Given the description of an element on the screen output the (x, y) to click on. 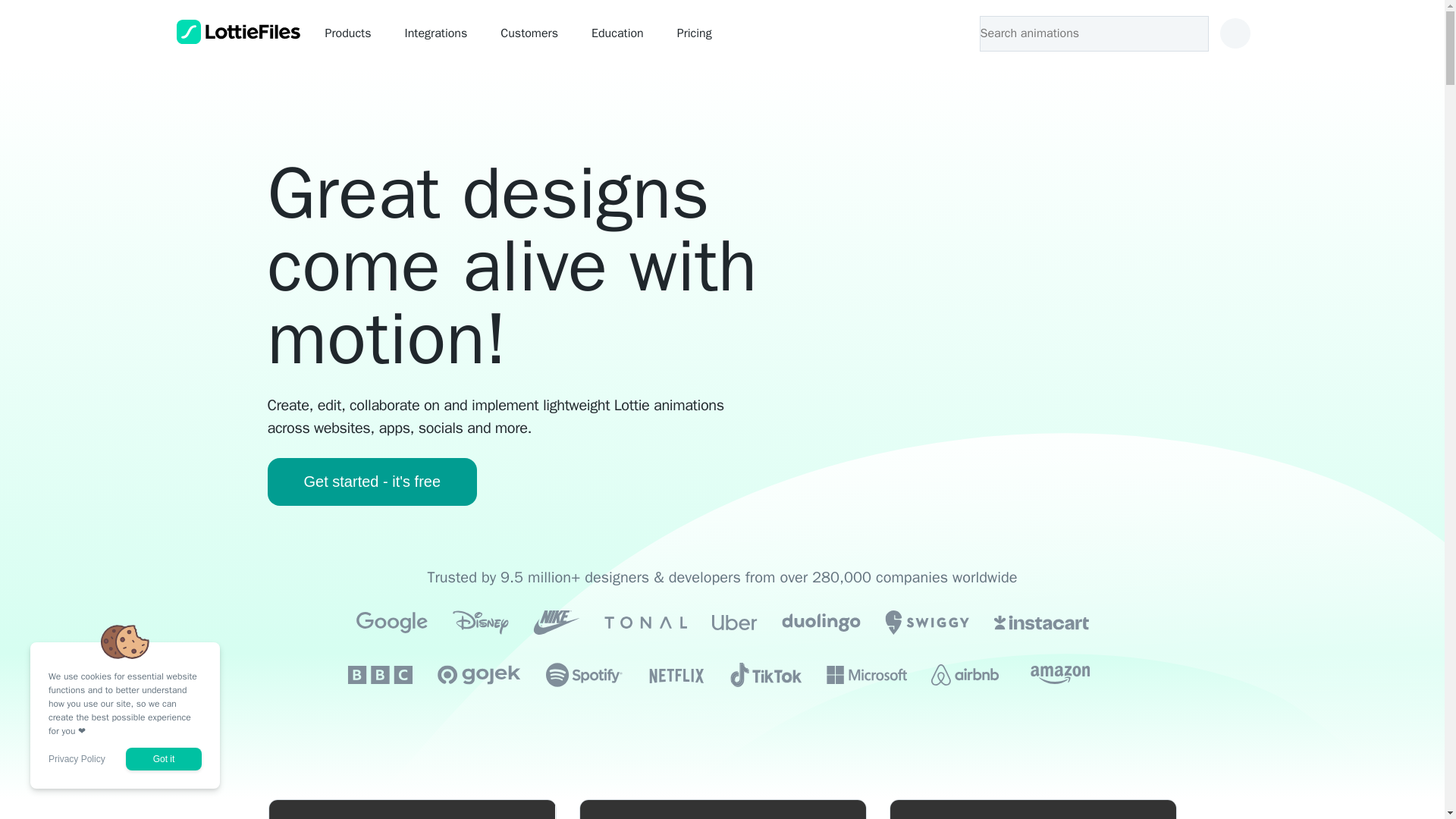
Your browser does not support the video tag. (721, 809)
Spotify case study (1031, 809)
Get started - it's free (371, 481)
Your browser does not support the video tag. (410, 809)
Your browser does not support the video tag. (1031, 809)
Gojek case study (410, 809)
Google case study (721, 809)
Go to LottieFiles Home (237, 31)
